Given the description of an element on the screen output the (x, y) to click on. 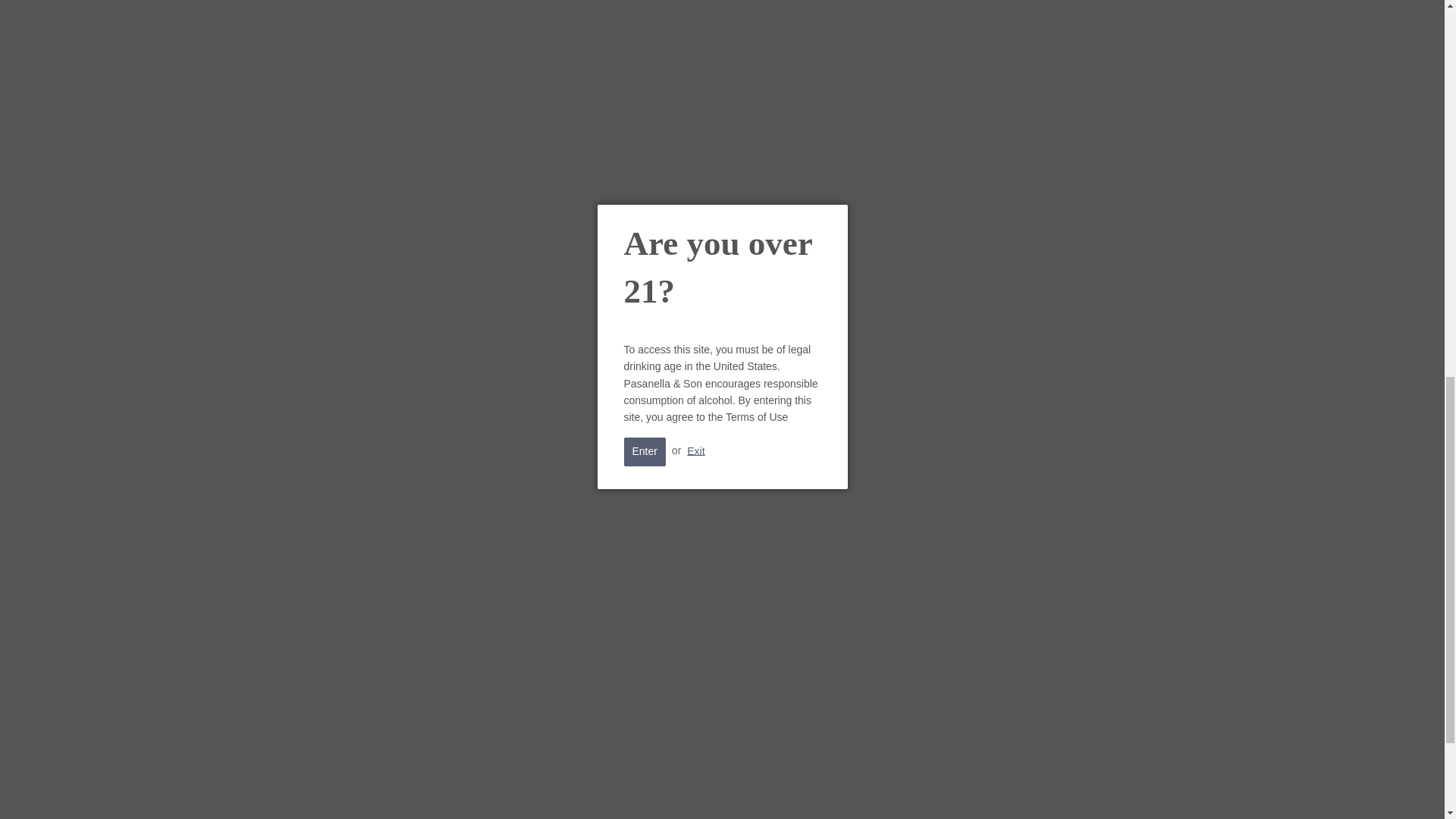
1 (1013, 32)
Subscribe (987, 801)
